Given the description of an element on the screen output the (x, y) to click on. 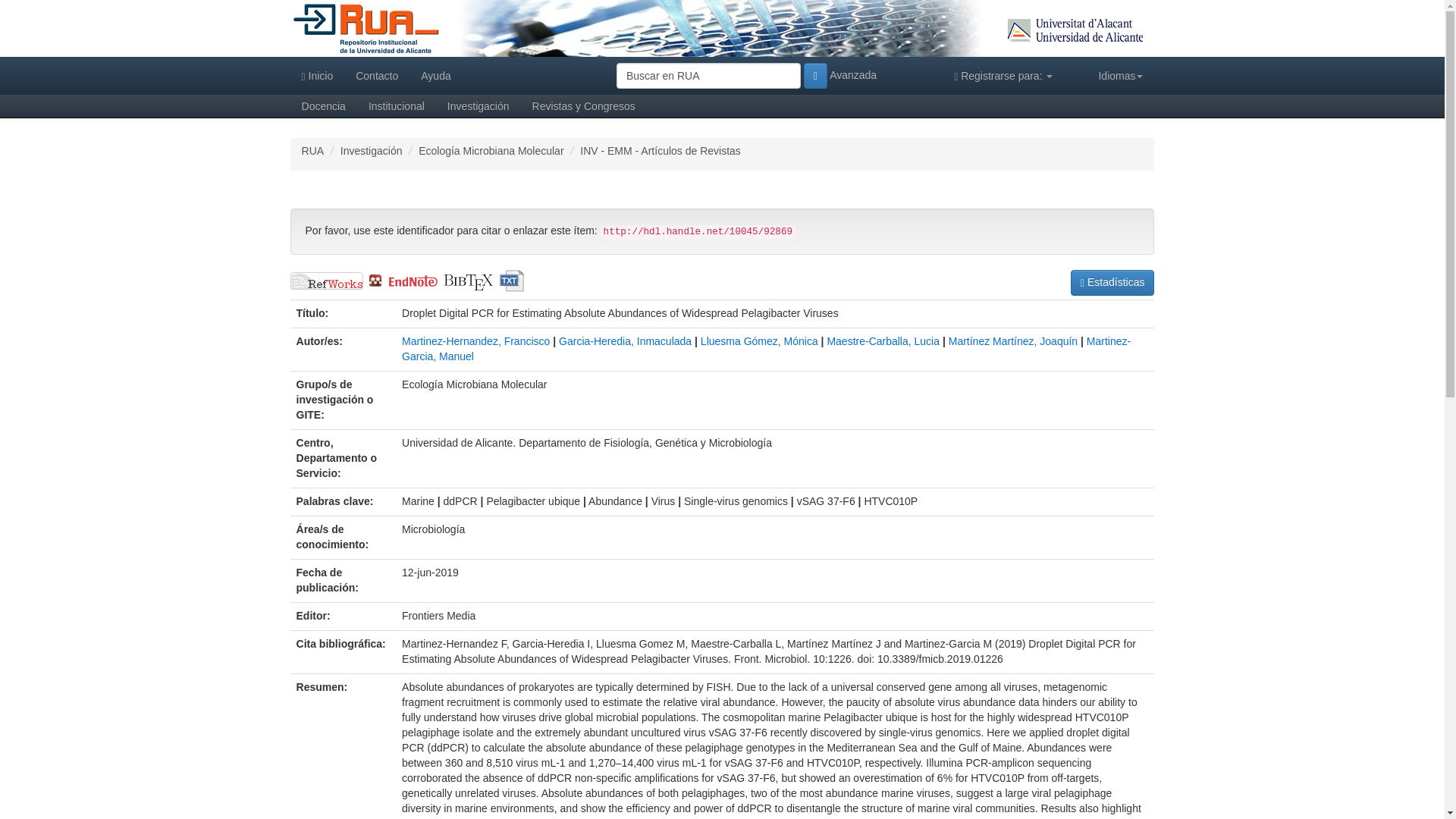
Idiomas (1120, 75)
Revistas y Congresos (583, 106)
Institucional (395, 106)
Martinez-Garcia, Manuel (766, 348)
Inicio (365, 27)
Contacto (376, 75)
Inicio (317, 75)
Docencia (322, 106)
Registrarse para: (1003, 75)
